Given the description of an element on the screen output the (x, y) to click on. 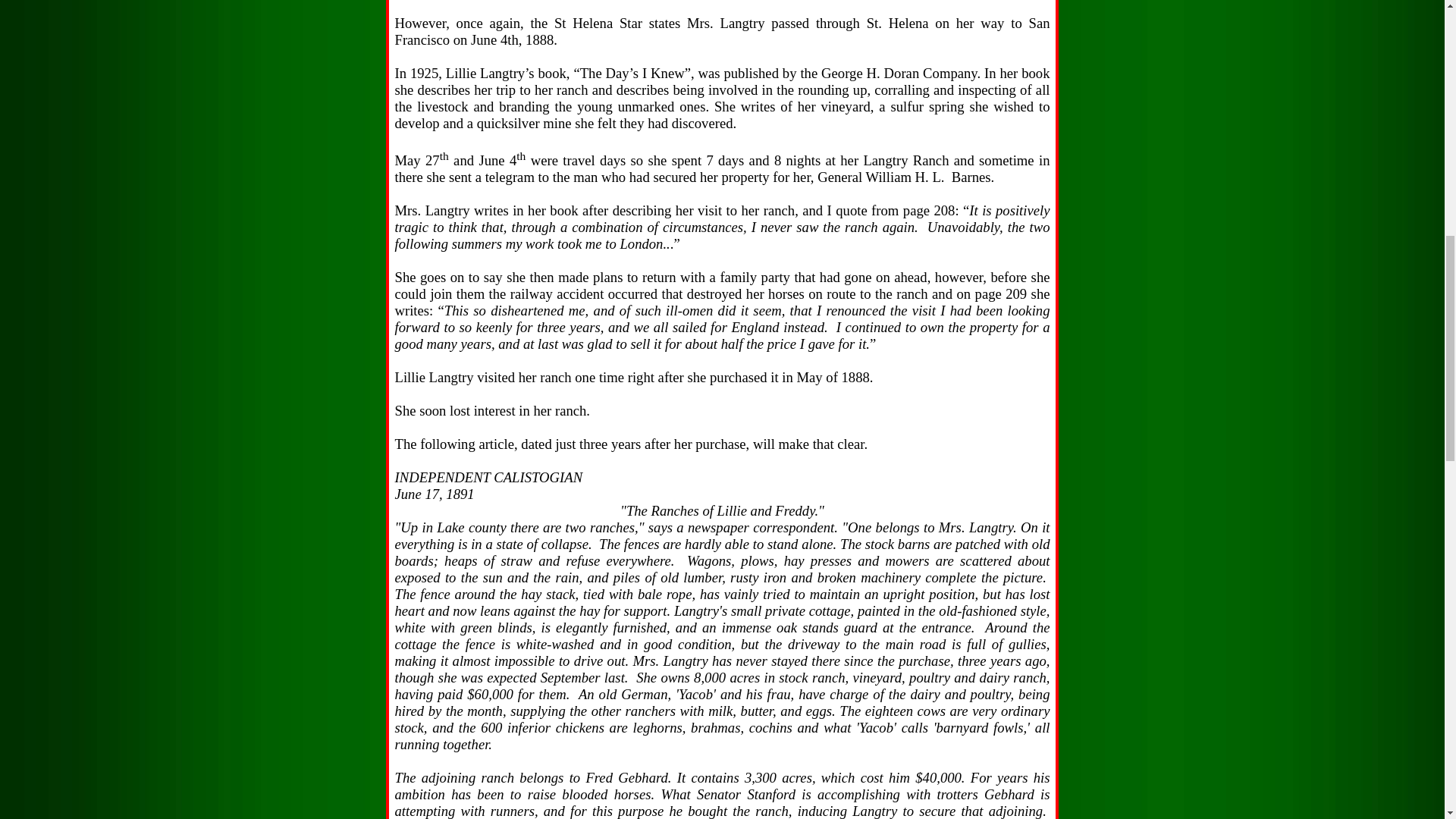
INDEPENDENT CALISTOGIAN (488, 477)
